Given the description of an element on the screen output the (x, y) to click on. 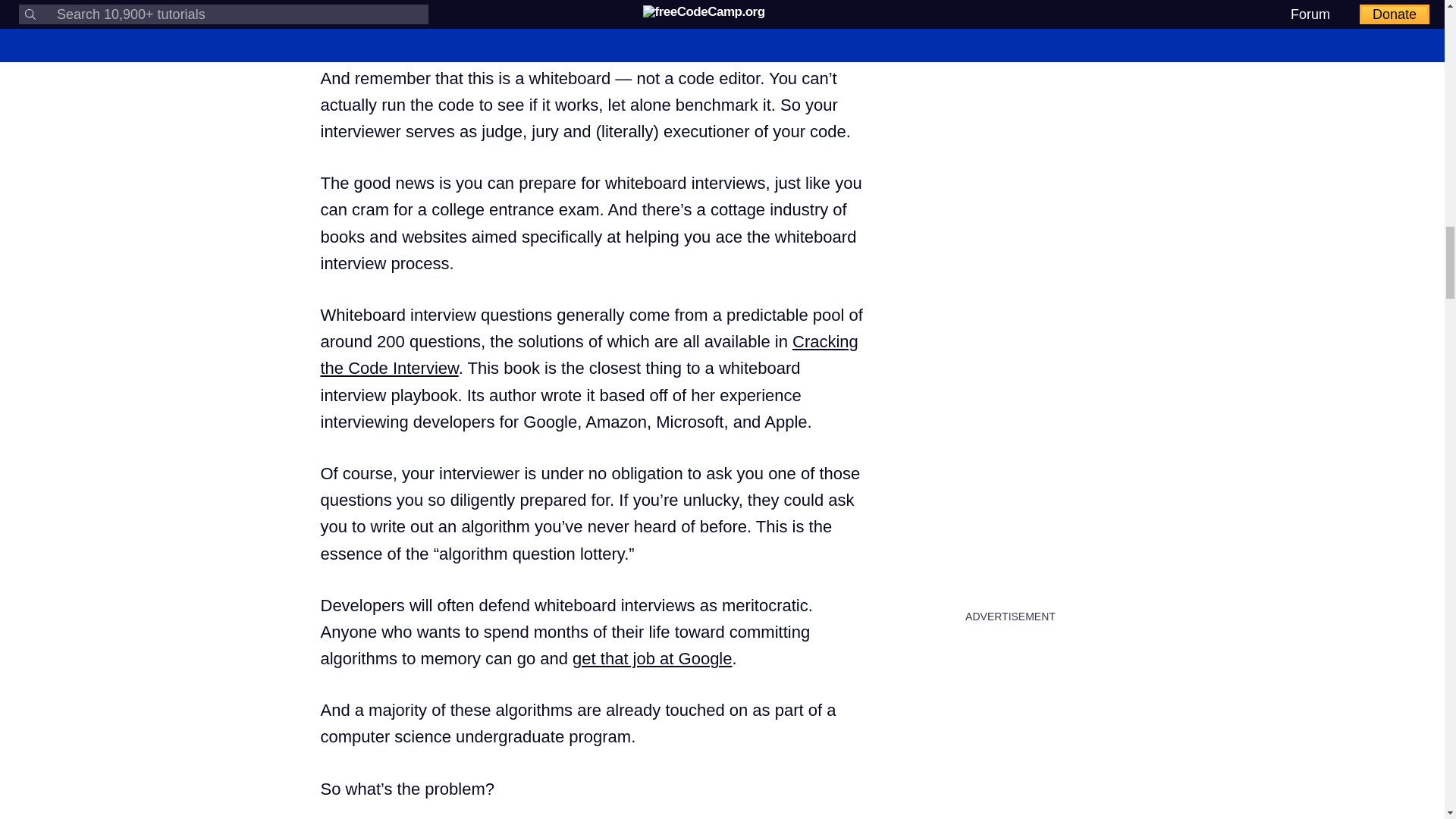
get that job at Google (652, 658)
Cracking the Code Interview (588, 354)
